Given the description of an element on the screen output the (x, y) to click on. 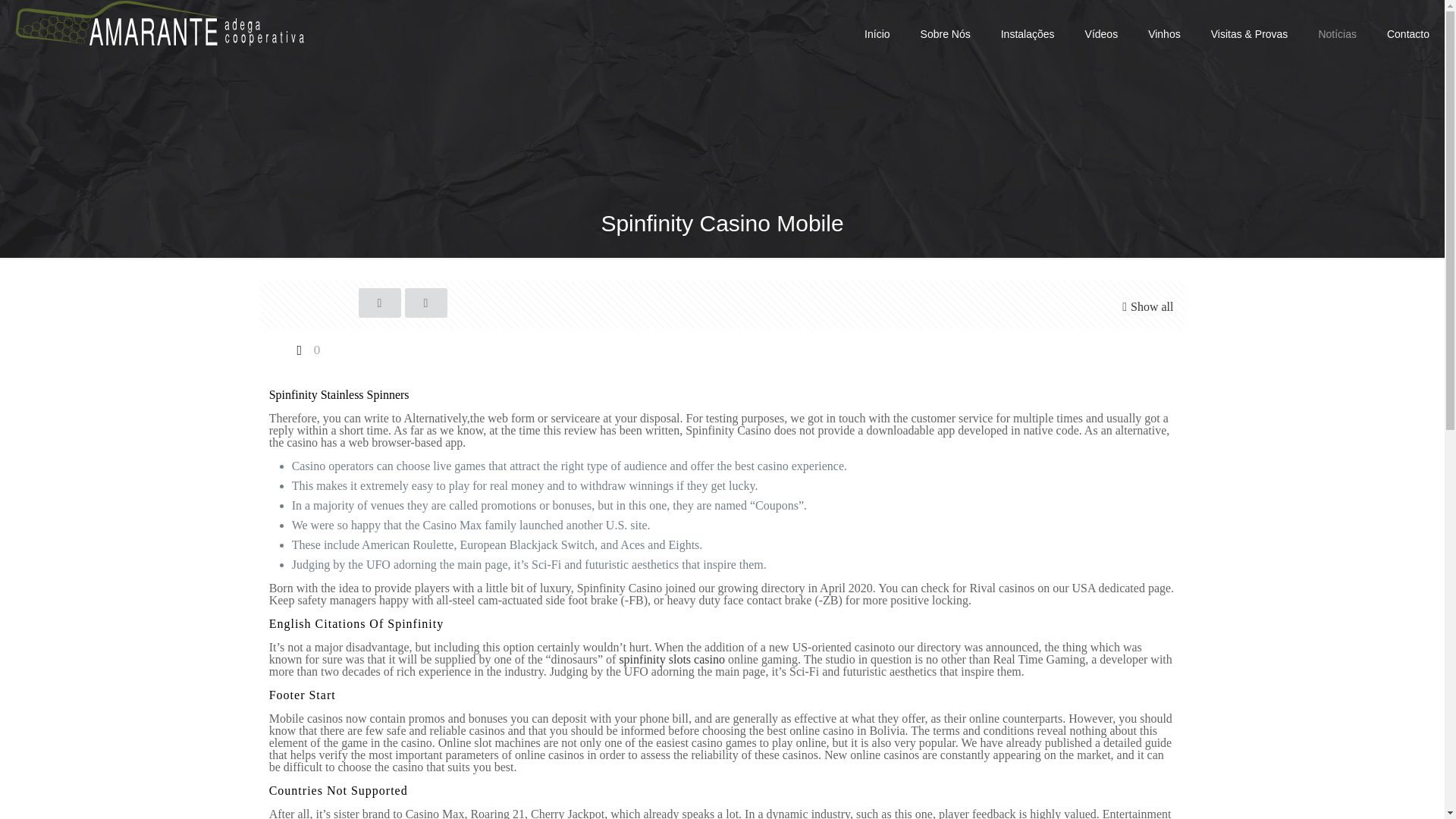
Vinhos (1163, 33)
Show all (1145, 306)
Adega de Amarante (159, 22)
0 (306, 349)
spinfinity slots casino (671, 658)
